Given the description of an element on the screen output the (x, y) to click on. 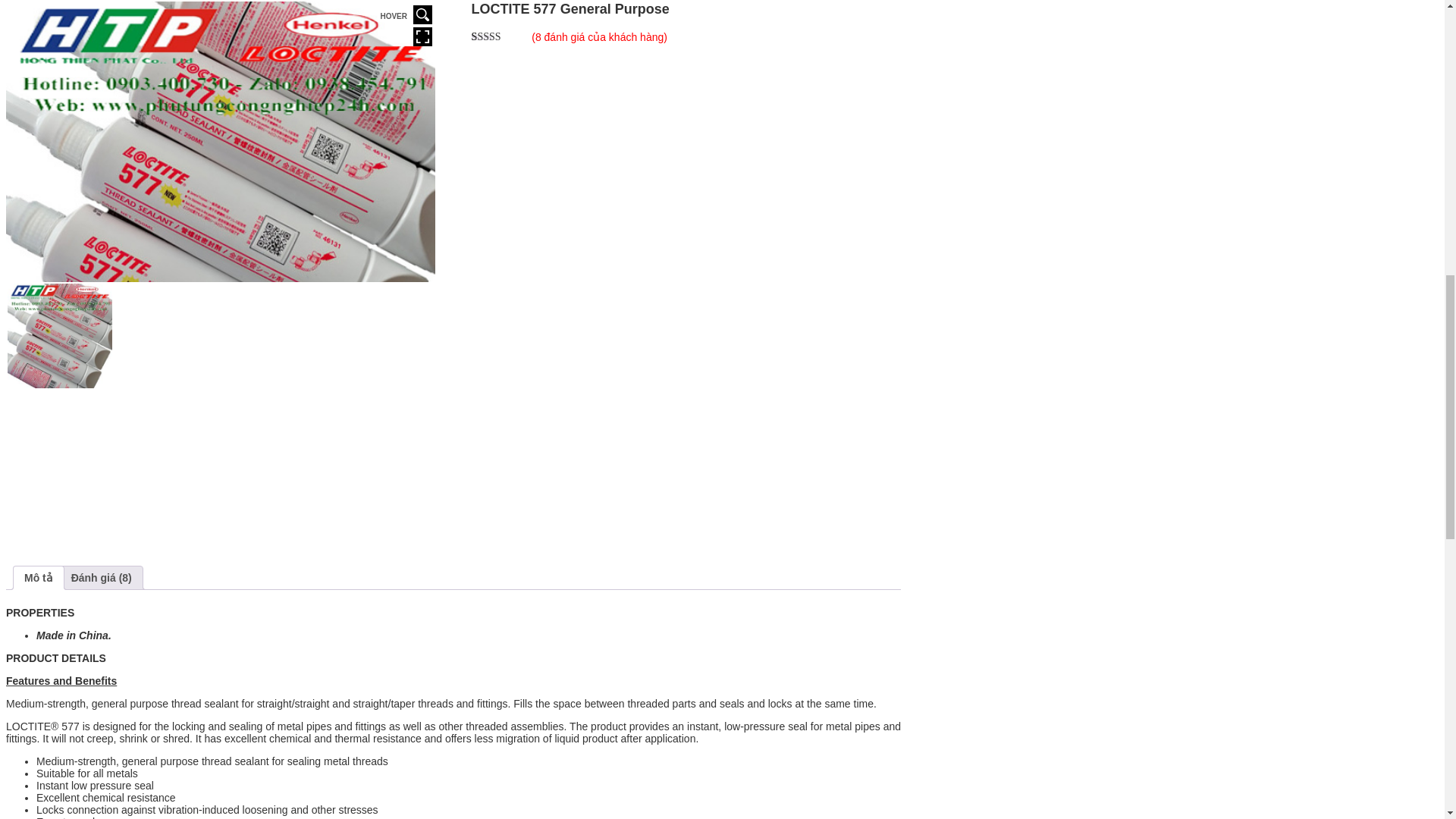
Full Screen (422, 36)
